Given the description of an element on the screen output the (x, y) to click on. 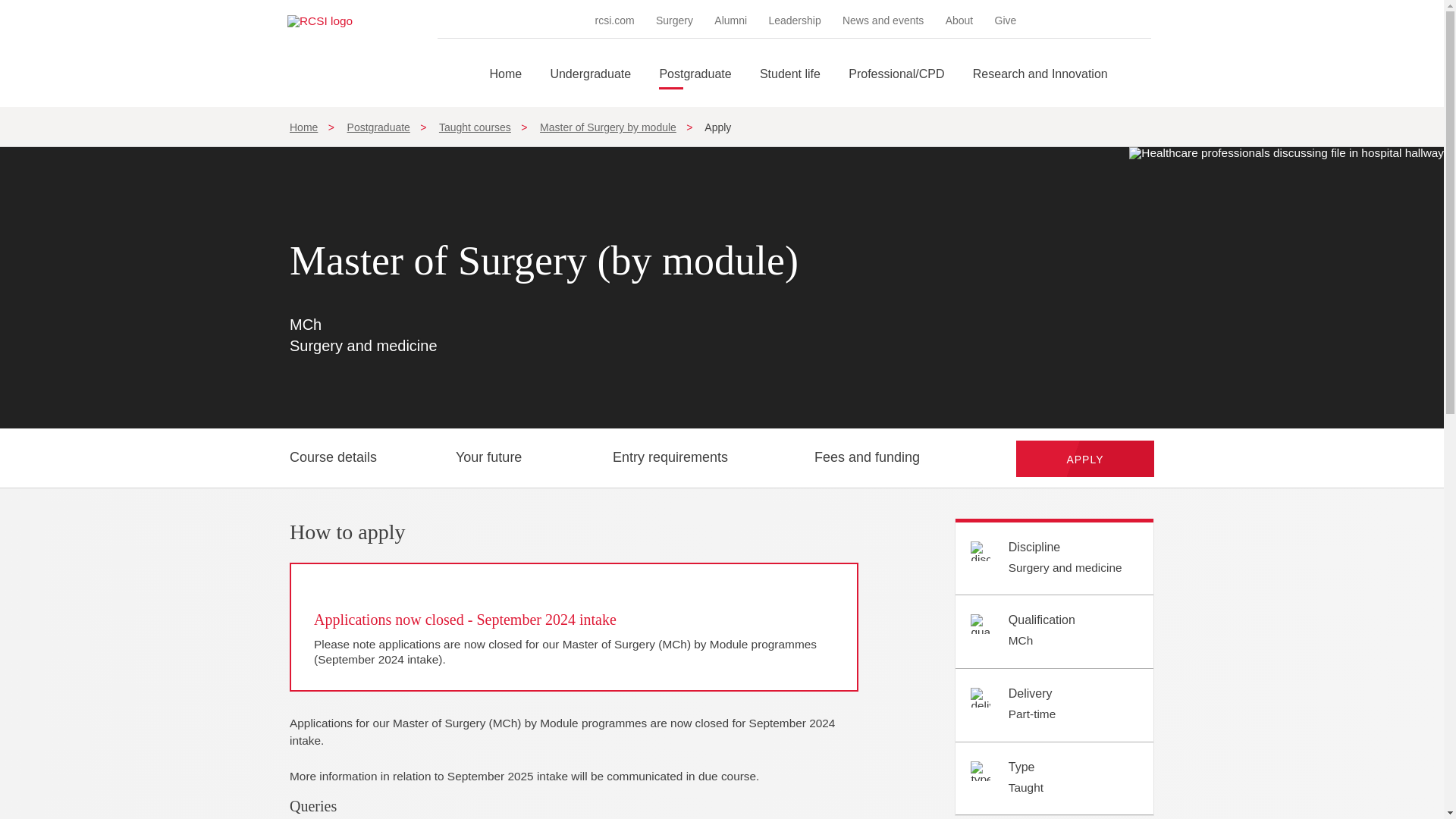
LinkedIn (1099, 19)
YouTube (1142, 19)
YouTube (1142, 19)
Postgraduate (694, 87)
Alumni (730, 20)
rcsi.com (614, 20)
Give (1005, 20)
Undergraduate (590, 87)
Leadership (794, 20)
